Given the description of an element on the screen output the (x, y) to click on. 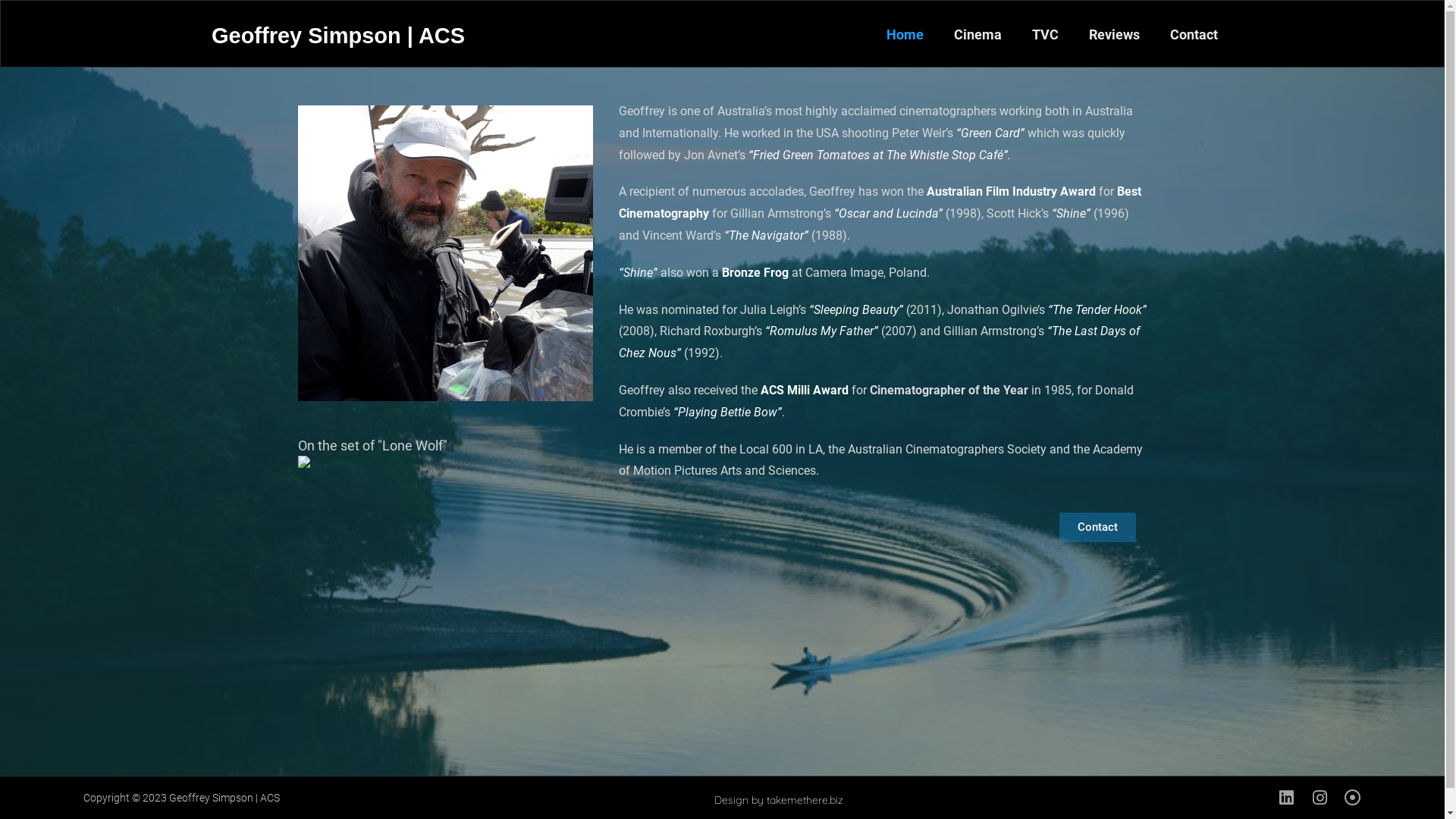
Reviews Element type: text (1113, 34)
Home Element type: text (904, 34)
Cinema Element type: text (977, 34)
Design by takemethere.biz Element type: text (778, 799)
TVC Element type: text (1044, 34)
Contact Element type: text (1097, 527)
Geoffrey Simpson | ACS Element type: text (337, 35)
Contact Element type: text (1193, 34)
